Given the description of an element on the screen output the (x, y) to click on. 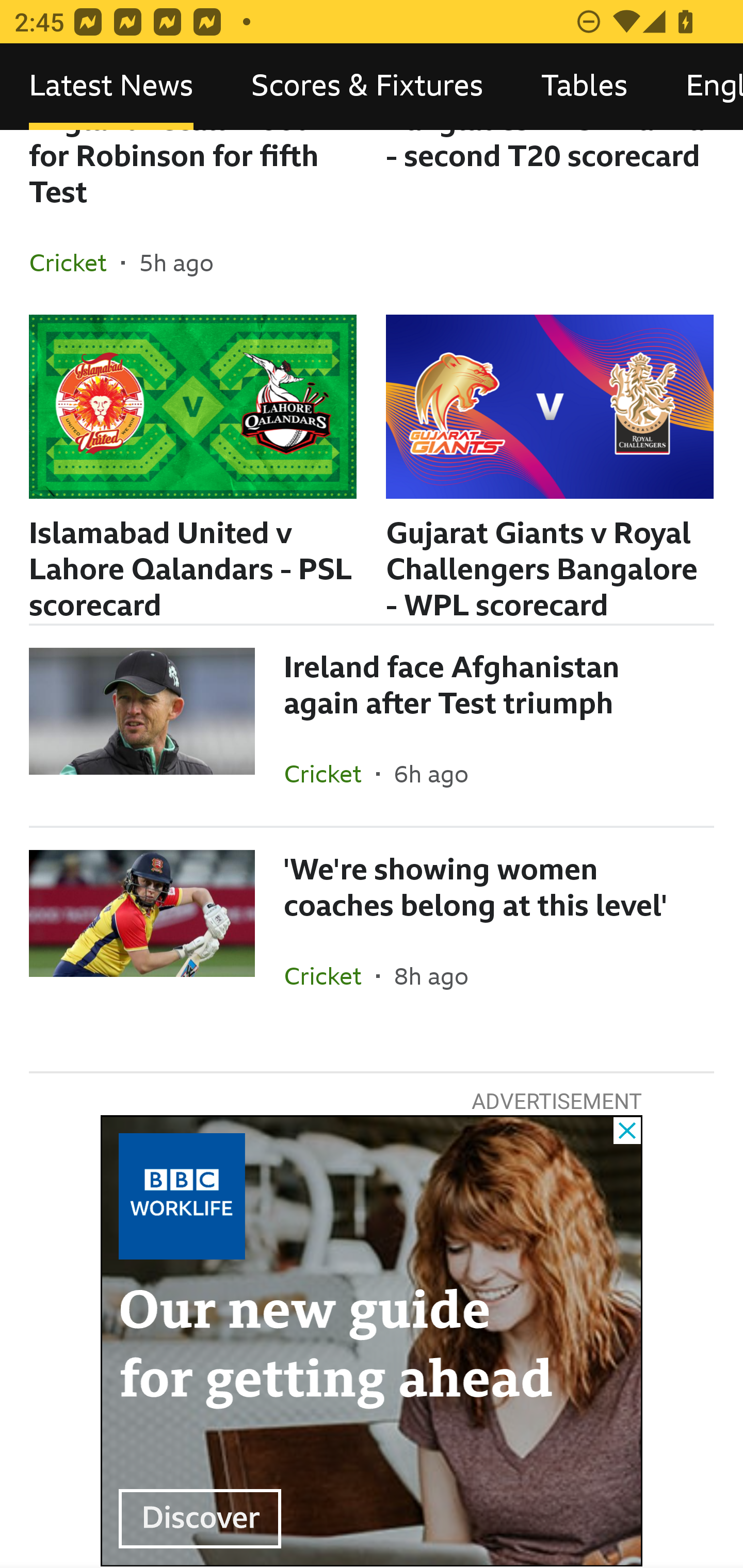
Latest News, selected Latest News (111, 86)
Scores & Fixtures (367, 86)
Tables (584, 86)
Bangladesh v Sri Lanka - second T20 scorecard (549, 222)
Cricket In the section Cricket (74, 262)
Cricket In the section Cricket (329, 773)
